Given the description of an element on the screen output the (x, y) to click on. 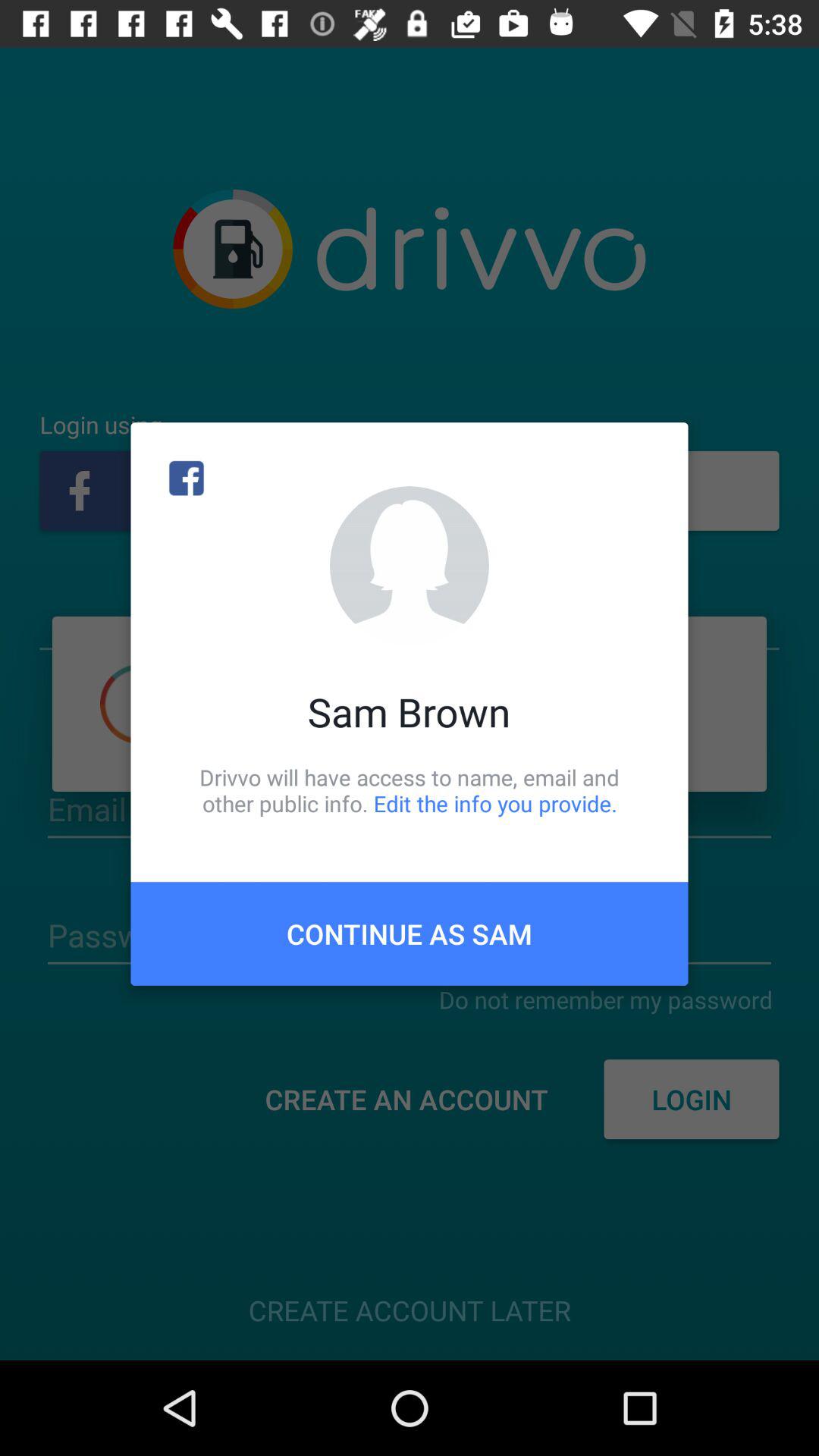
tap the icon below the sam brown item (409, 790)
